Given the description of an element on the screen output the (x, y) to click on. 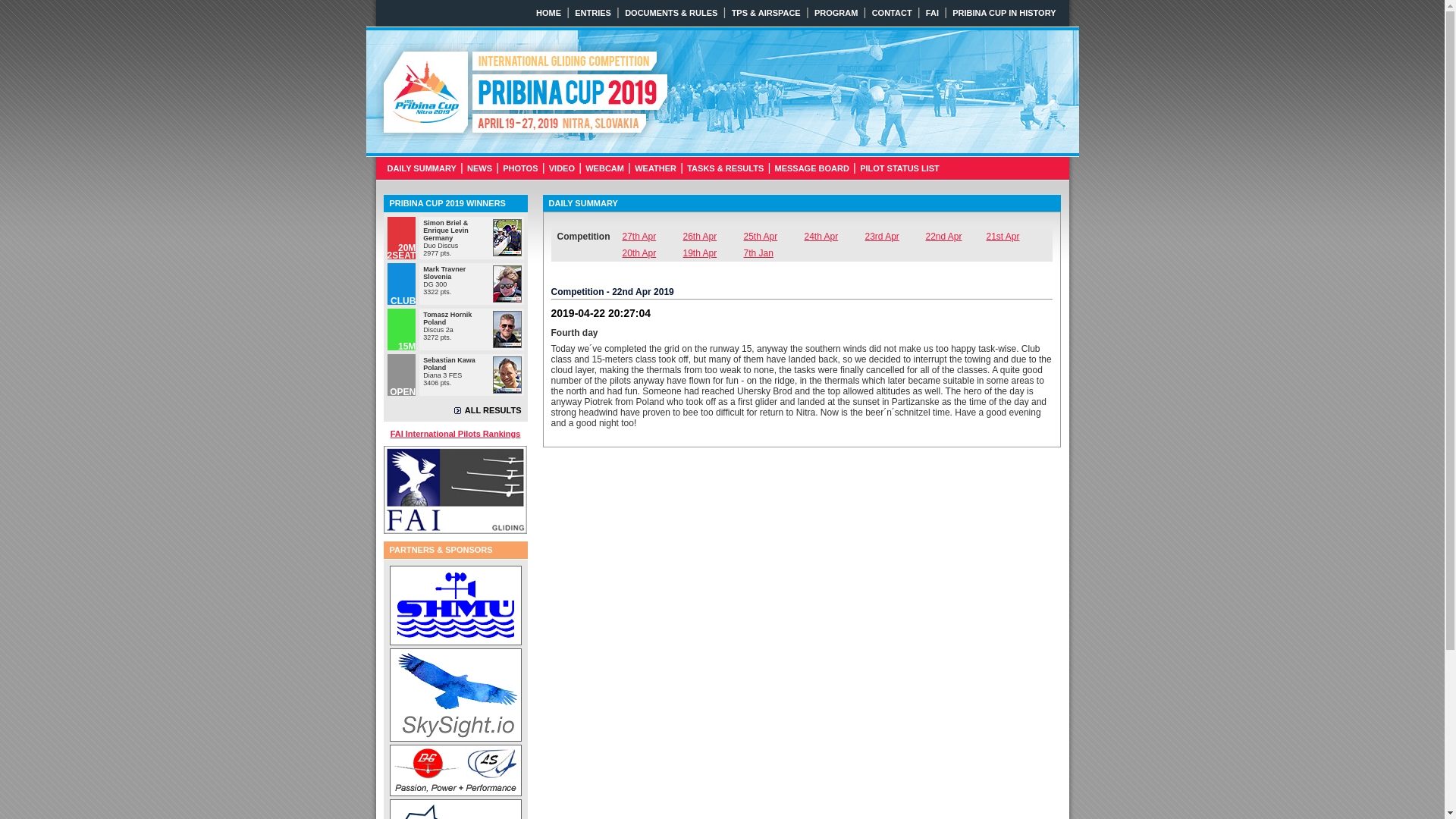
PRIBINA CUP IN HISTORY (1004, 12)
WEBCAM (604, 167)
ALL RESULTS (487, 409)
24th Apr (833, 236)
NEWS (479, 167)
25th Apr (772, 236)
FAI International Pilots Rankings (455, 433)
19th Apr (712, 252)
HOME (548, 12)
26th Apr (712, 236)
ENTRIES (592, 12)
21st Apr (1015, 236)
MESSAGE BOARD (810, 167)
PHOTOS (520, 167)
22nd Apr (954, 236)
